Given the description of an element on the screen output the (x, y) to click on. 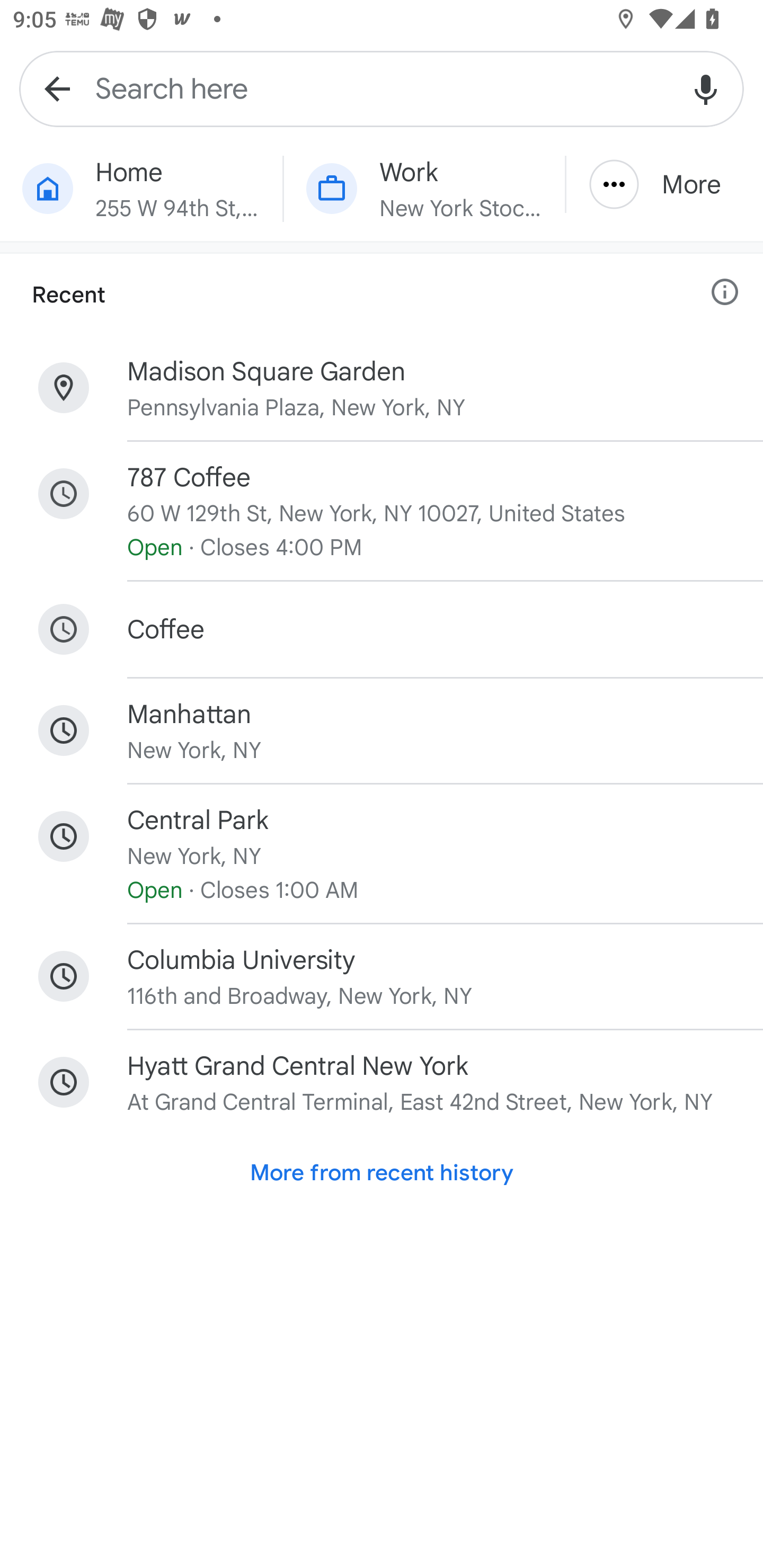
Navigate up (57, 88)
Search here (381, 88)
Voice search (705, 88)
More (664, 184)
Coffee (381, 629)
Manhattan New York, NY (381, 730)
Central Park New York, NY Open · Closes 1:00 AM (381, 853)
More from recent history (381, 1172)
